Given the description of an element on the screen output the (x, y) to click on. 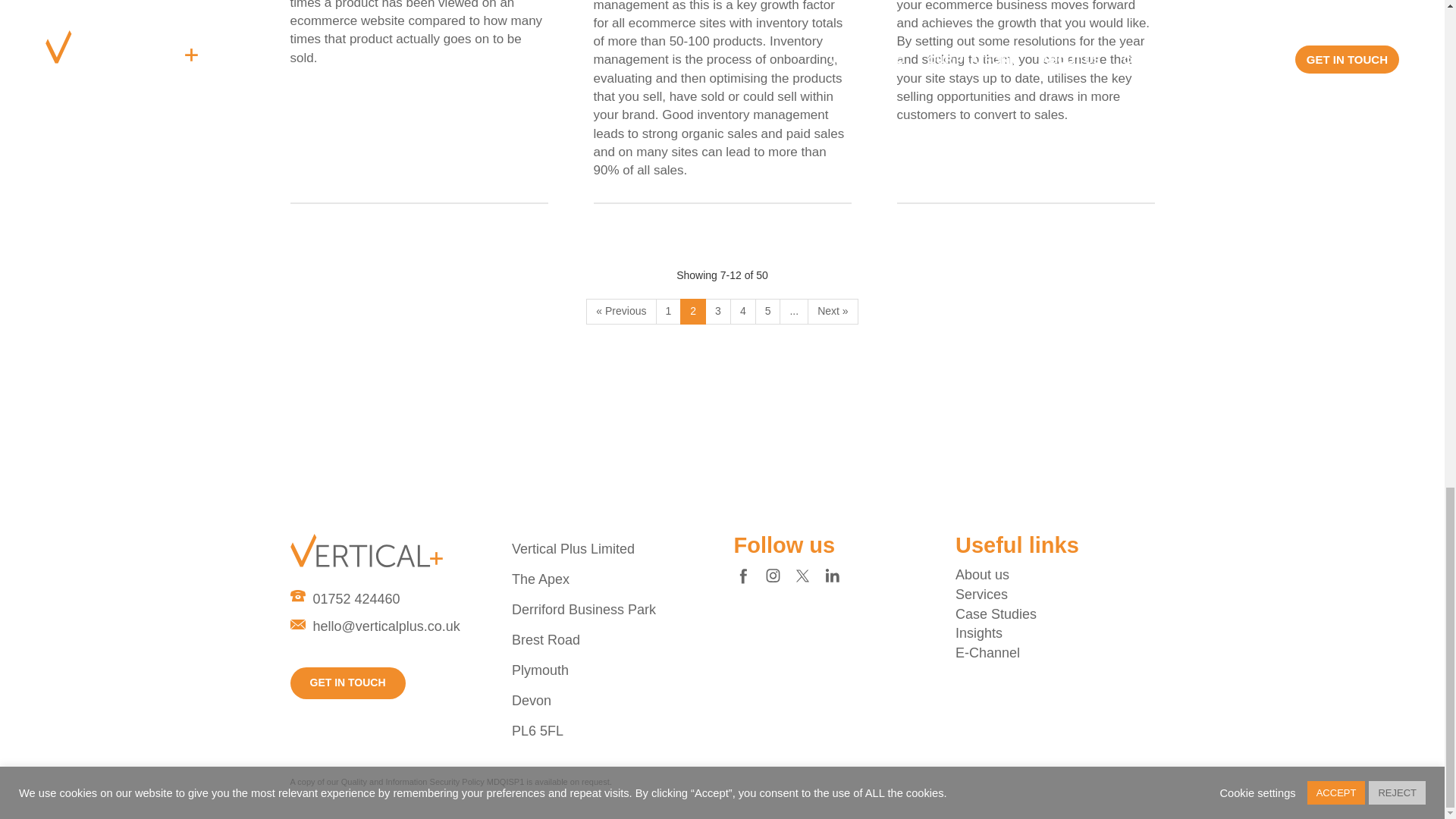
1 (668, 311)
Insights (979, 632)
Follow us on linkedin (831, 574)
4 (742, 311)
Page 3 (832, 311)
Page 1 (621, 311)
Follow us on Instagram (771, 574)
Page 2 (692, 311)
Follow us on twitter (802, 574)
About us (982, 574)
